Given the description of an element on the screen output the (x, y) to click on. 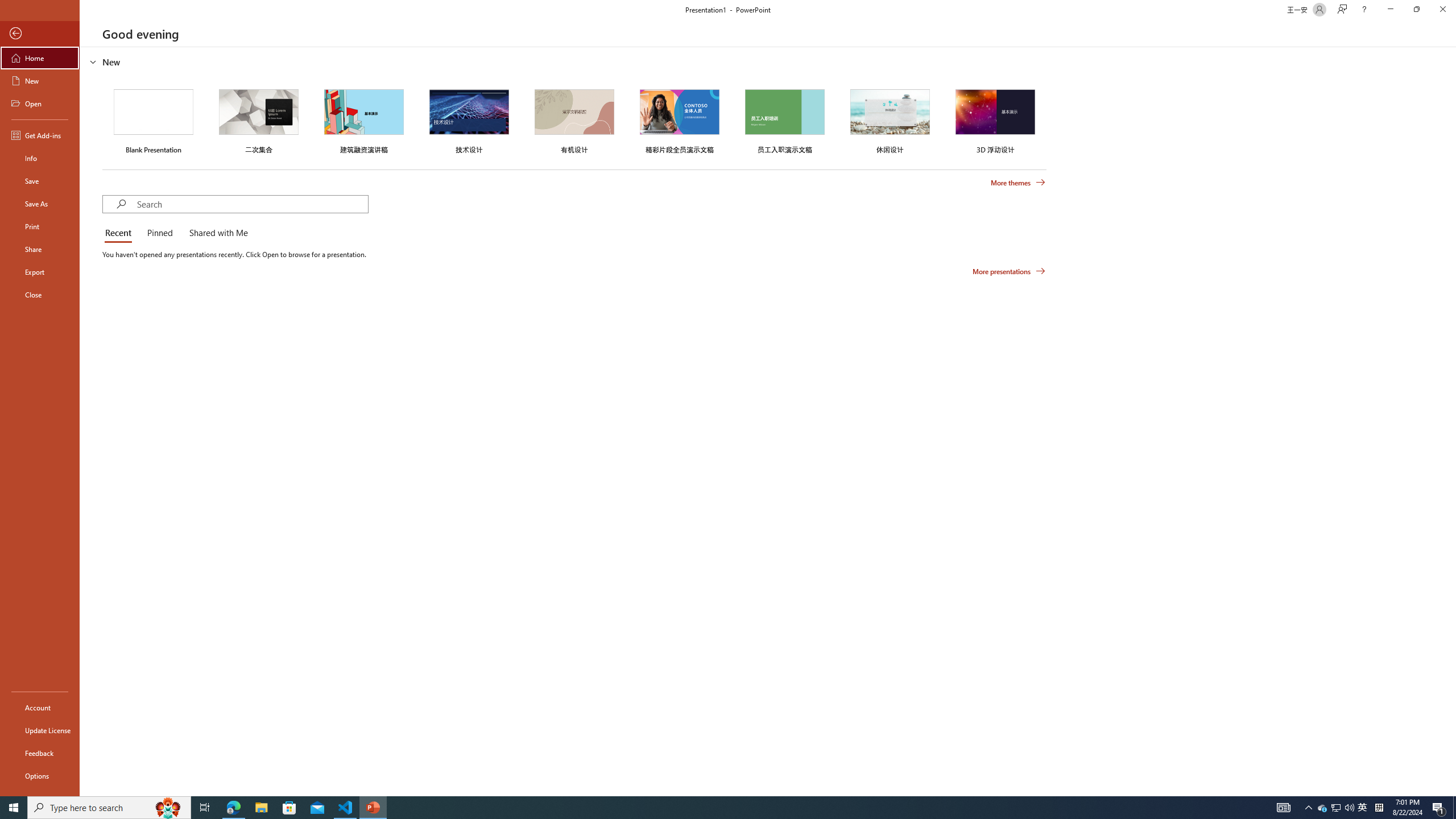
Save (40, 180)
Open (40, 102)
Feedback (40, 753)
Get Add-ins (40, 134)
Shared with Me (215, 233)
Blank Presentation (153, 119)
More themes (1018, 182)
Search (252, 203)
Close (1442, 9)
Account (40, 707)
Home (40, 57)
Minimize (1390, 9)
